Given the description of an element on the screen output the (x, y) to click on. 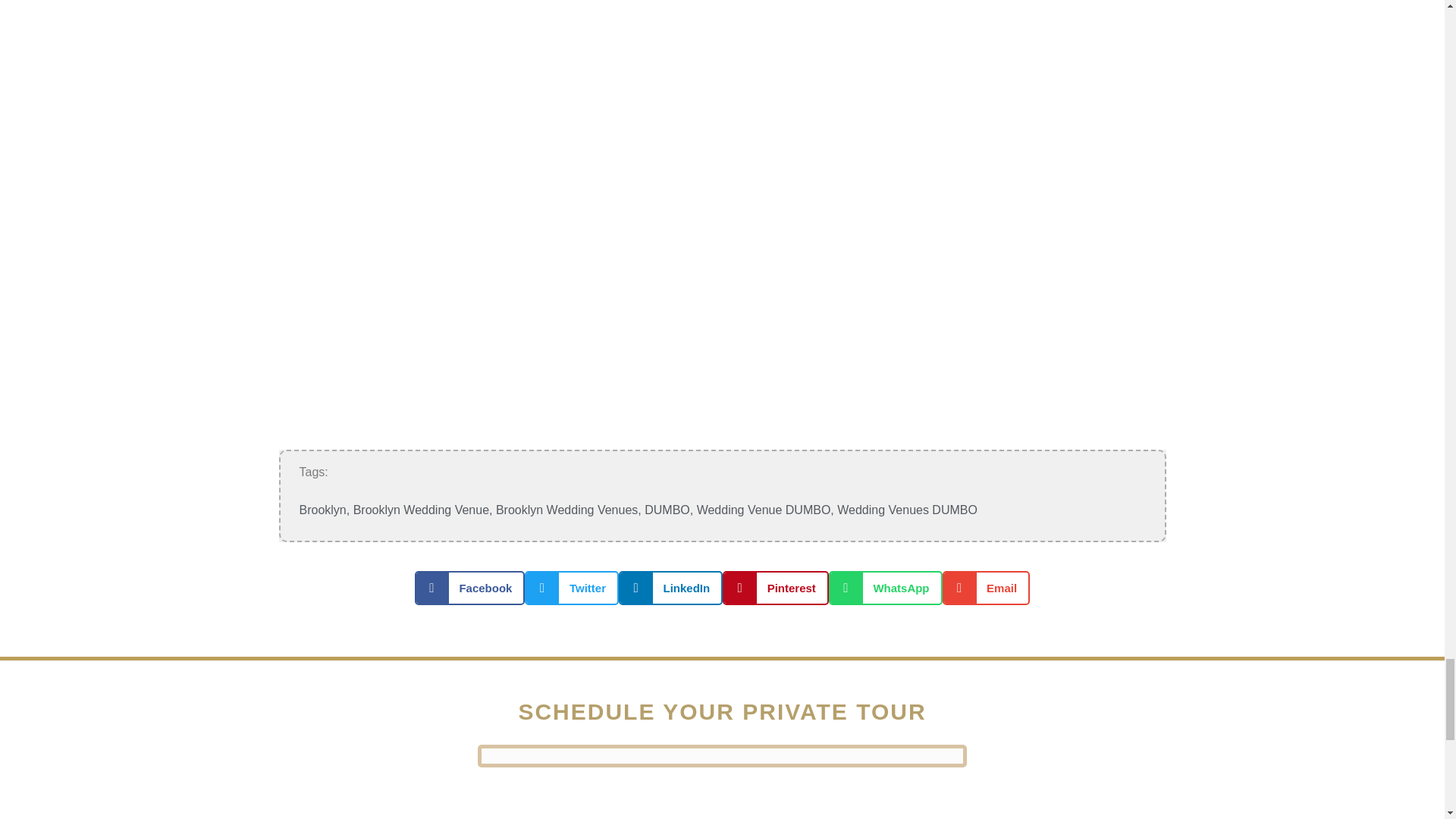
Brooklyn (322, 509)
DUMBO (667, 509)
Wedding Venue DUMBO (764, 509)
Wedding Venues DUMBO (906, 509)
Brooklyn Wedding Venue (421, 509)
Brooklyn Wedding Venues (566, 509)
